Given the description of an element on the screen output the (x, y) to click on. 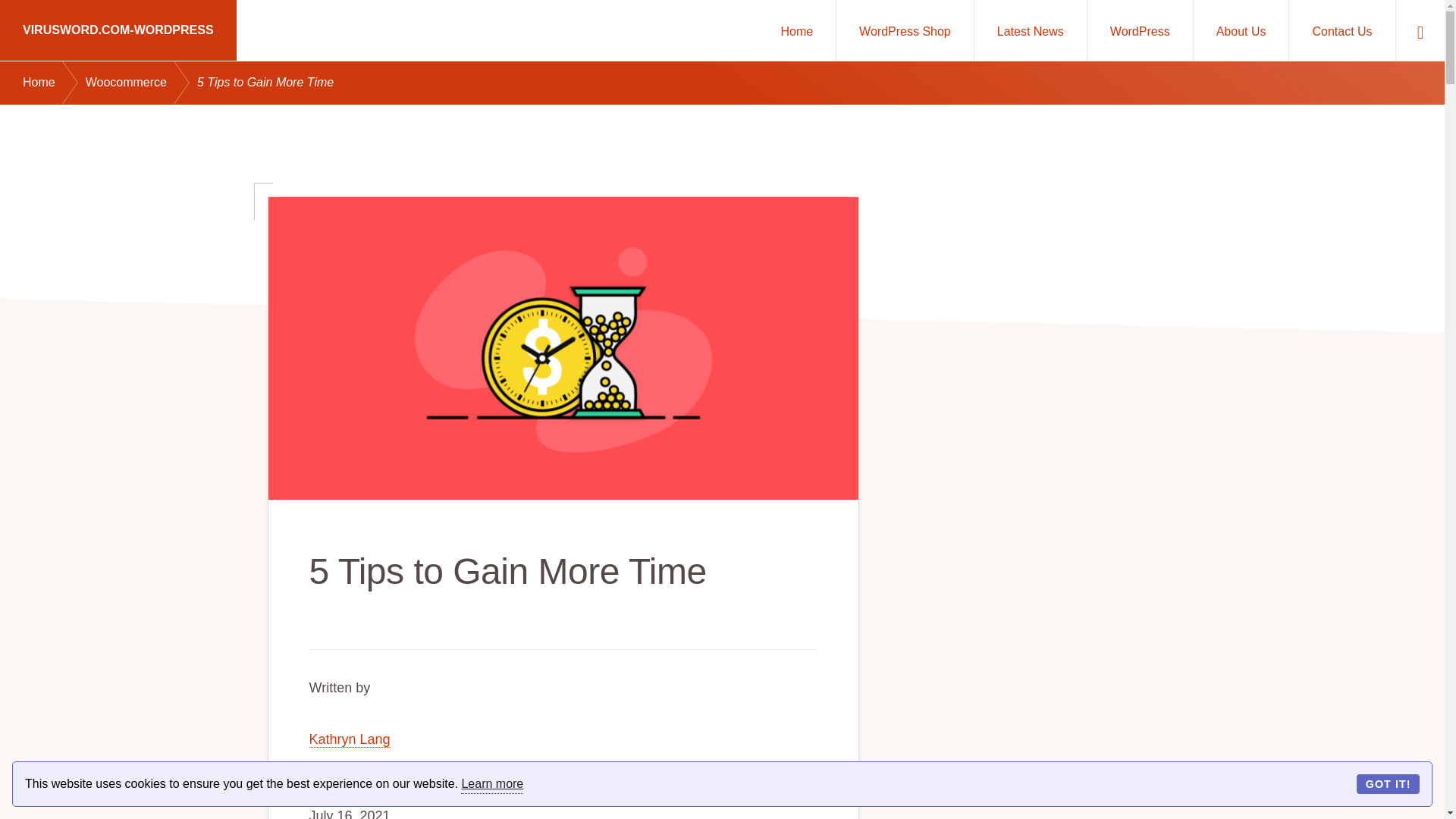
VIRUSWORD.COM-WORDPRESS (117, 30)
Home (796, 30)
Learn more (491, 783)
Latest News (1030, 30)
Woocommerce (140, 82)
Kathryn Lang (349, 739)
Kathryn Lang (349, 739)
GOT IT! (1387, 783)
WordPress Shop (904, 30)
WordPress (1139, 30)
Show Search (1420, 30)
Contact Us (1341, 30)
Home (54, 82)
About Us (1240, 30)
